Given the description of an element on the screen output the (x, y) to click on. 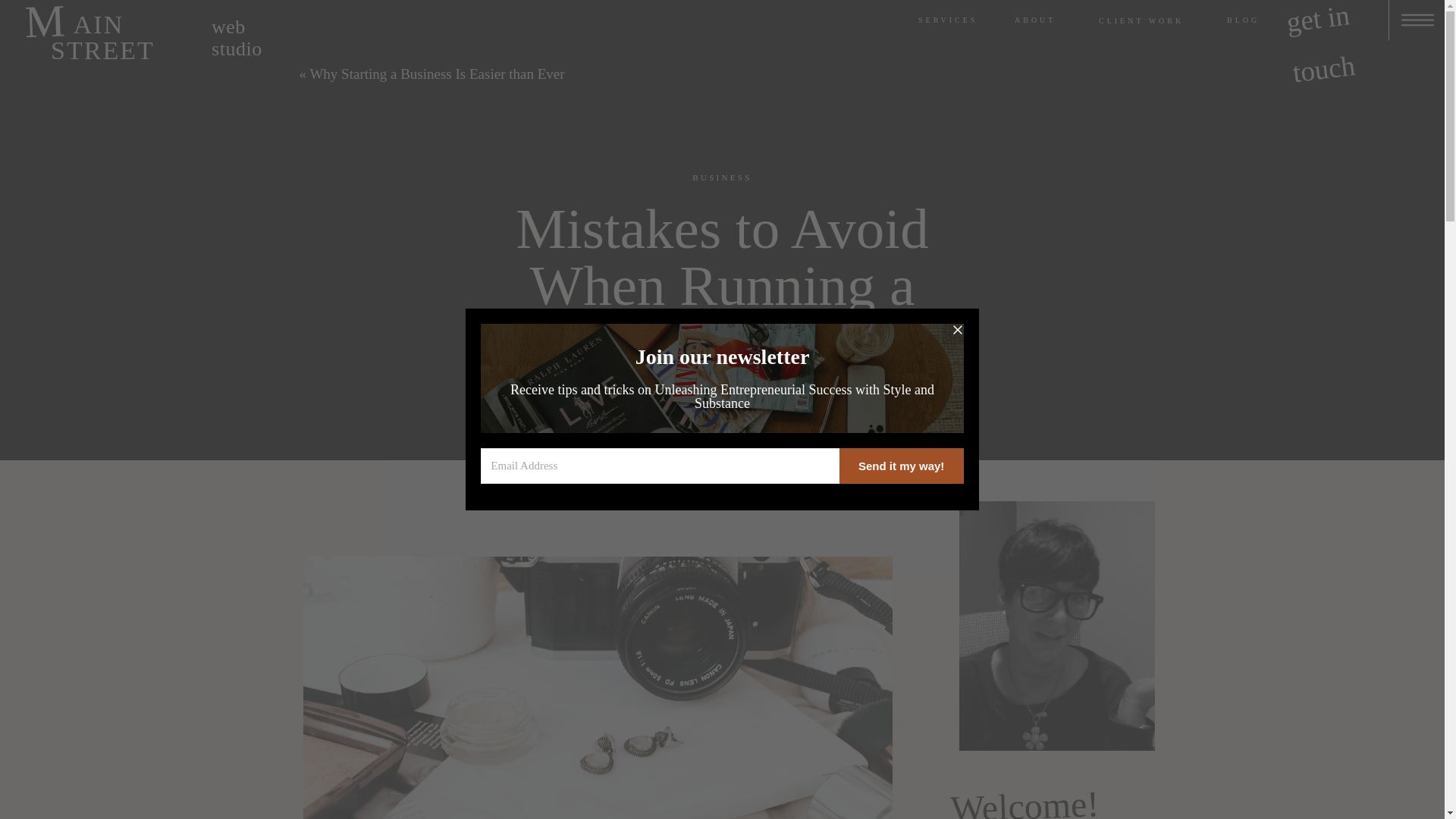
BLOG (1253, 19)
CLIENT WORK (1150, 19)
M (49, 20)
Why Starting a Business Is Easier than Ever (436, 73)
BUSINESS (722, 176)
   AIN STREET   (138, 28)
What You Need to Get Started as an Entrepreneur (1032, 69)
SERVICES (954, 19)
get in touch (1334, 6)
ABOUT (1039, 19)
